Given the description of an element on the screen output the (x, y) to click on. 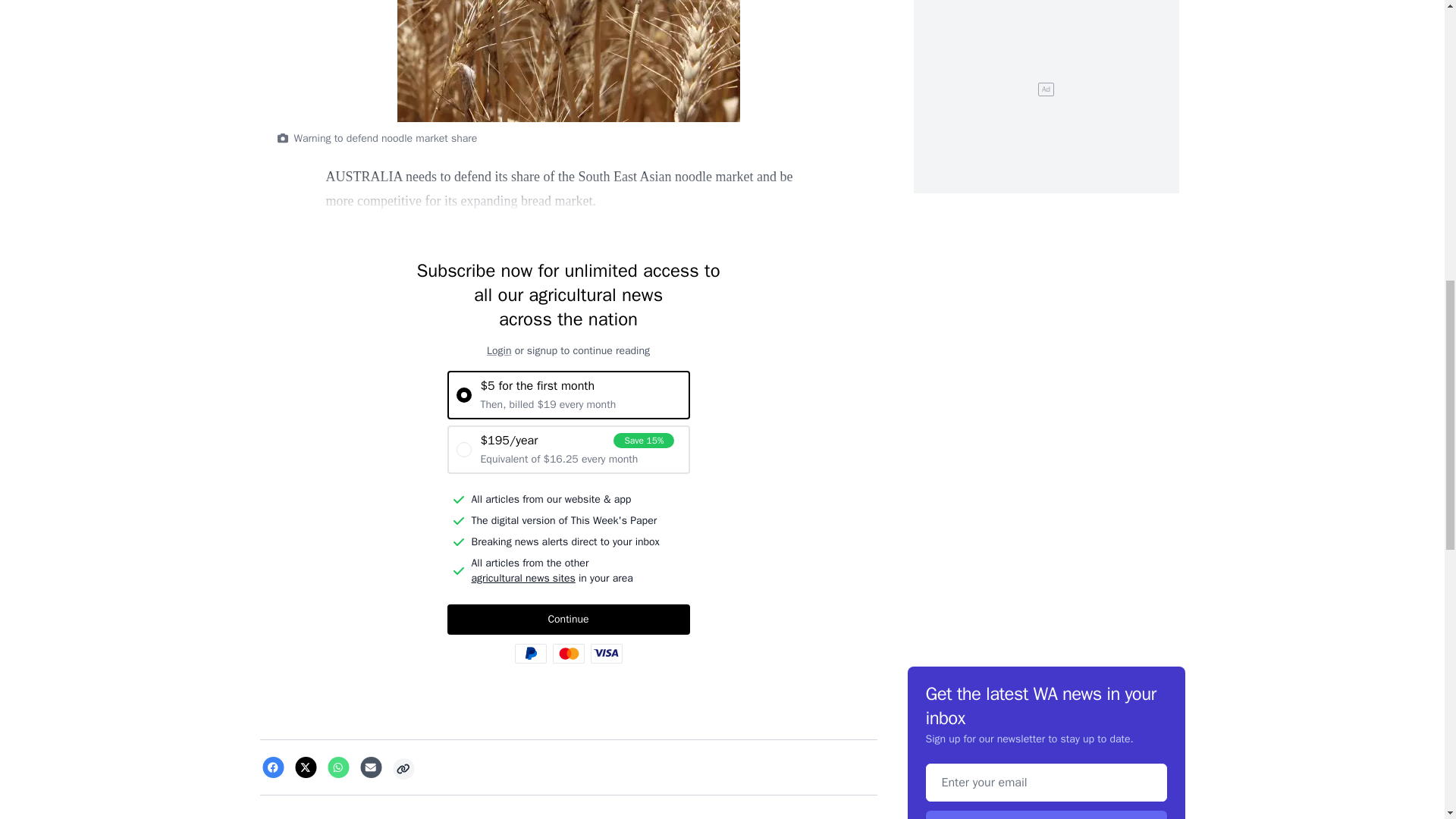
Warning to defend noodle market share (568, 61)
